Given the description of an element on the screen output the (x, y) to click on. 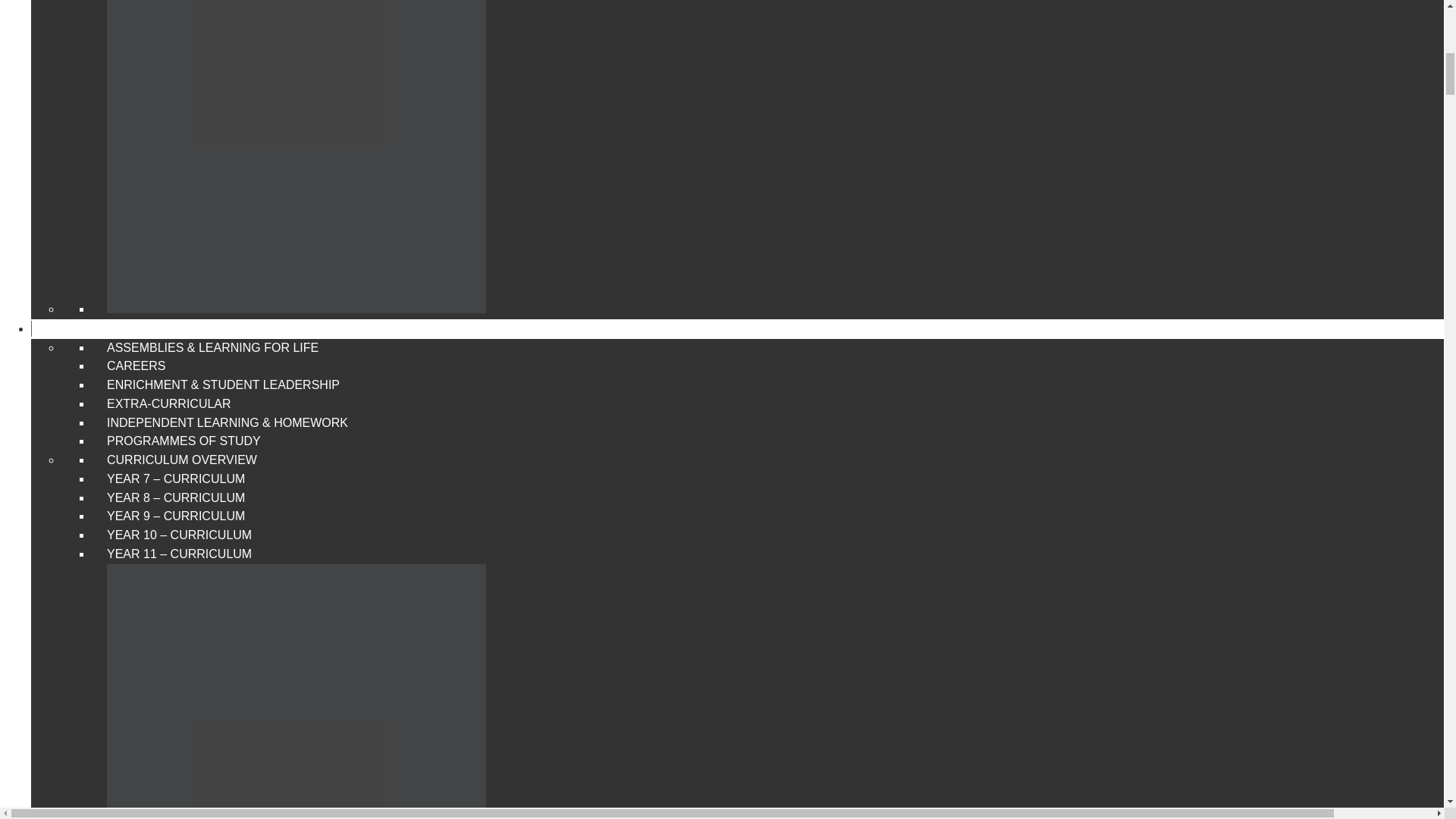
EXTRA-CURRICULAR (168, 403)
CAREERS (135, 366)
PROGRAMMES OF STUDY (183, 440)
CURRICULUM OVERVIEW (181, 459)
